Given the description of an element on the screen output the (x, y) to click on. 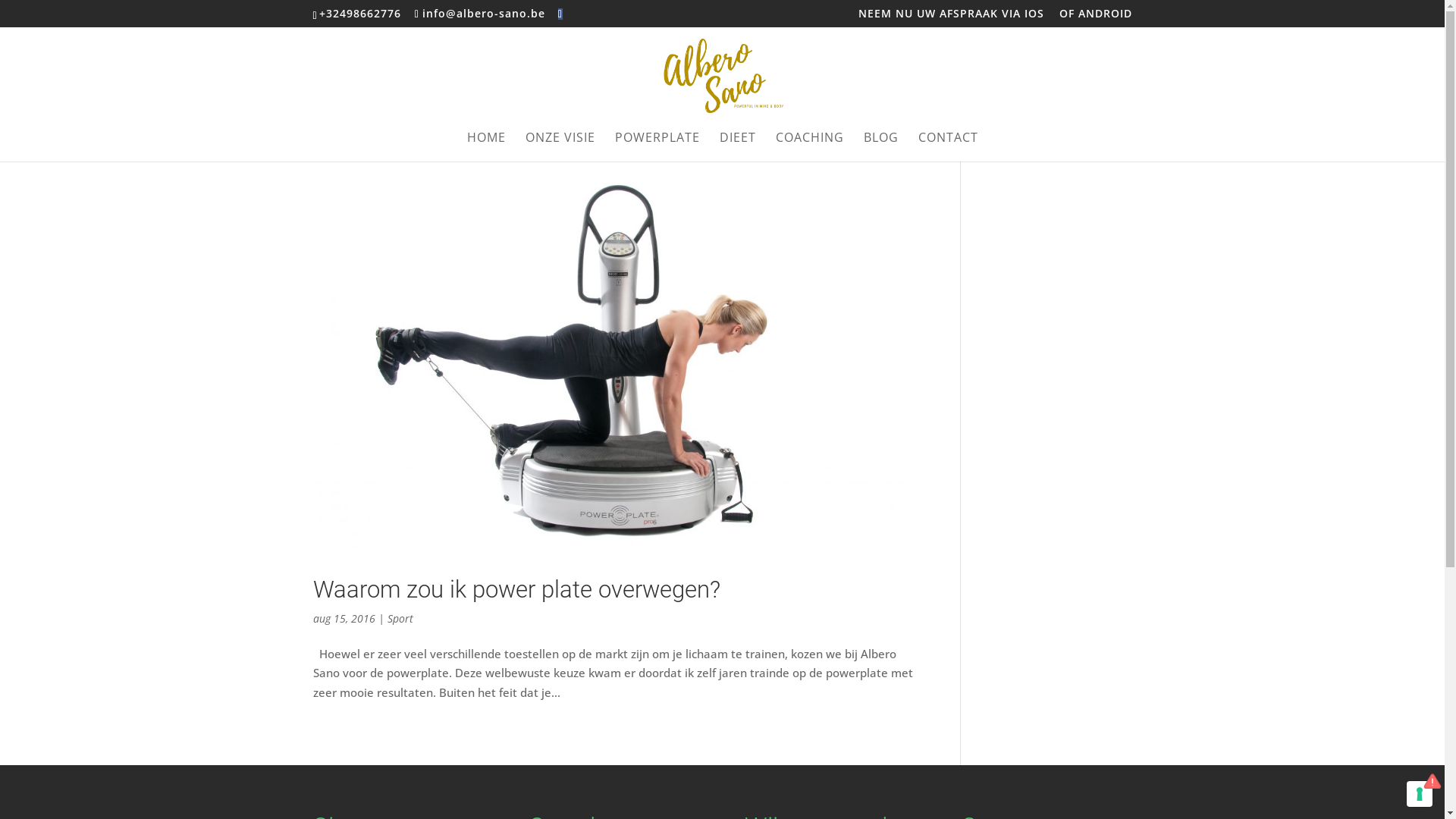
Sport Element type: text (399, 618)
CONTACT Element type: text (947, 146)
BLOG Element type: text (879, 146)
COACHING Element type: text (809, 146)
HOME Element type: text (486, 146)
POWERPLATE Element type: text (656, 146)
DIEET Element type: text (736, 146)
ONZE VISIE Element type: text (559, 146)
NEEM NU UW AFSPRAAK VIA IOS Element type: text (951, 16)
OF ANDROID Element type: text (1094, 16)
info@albero-sano.be Element type: text (479, 13)
Waarom zou ik power plate overwegen? Element type: text (515, 589)
